Given the description of an element on the screen output the (x, y) to click on. 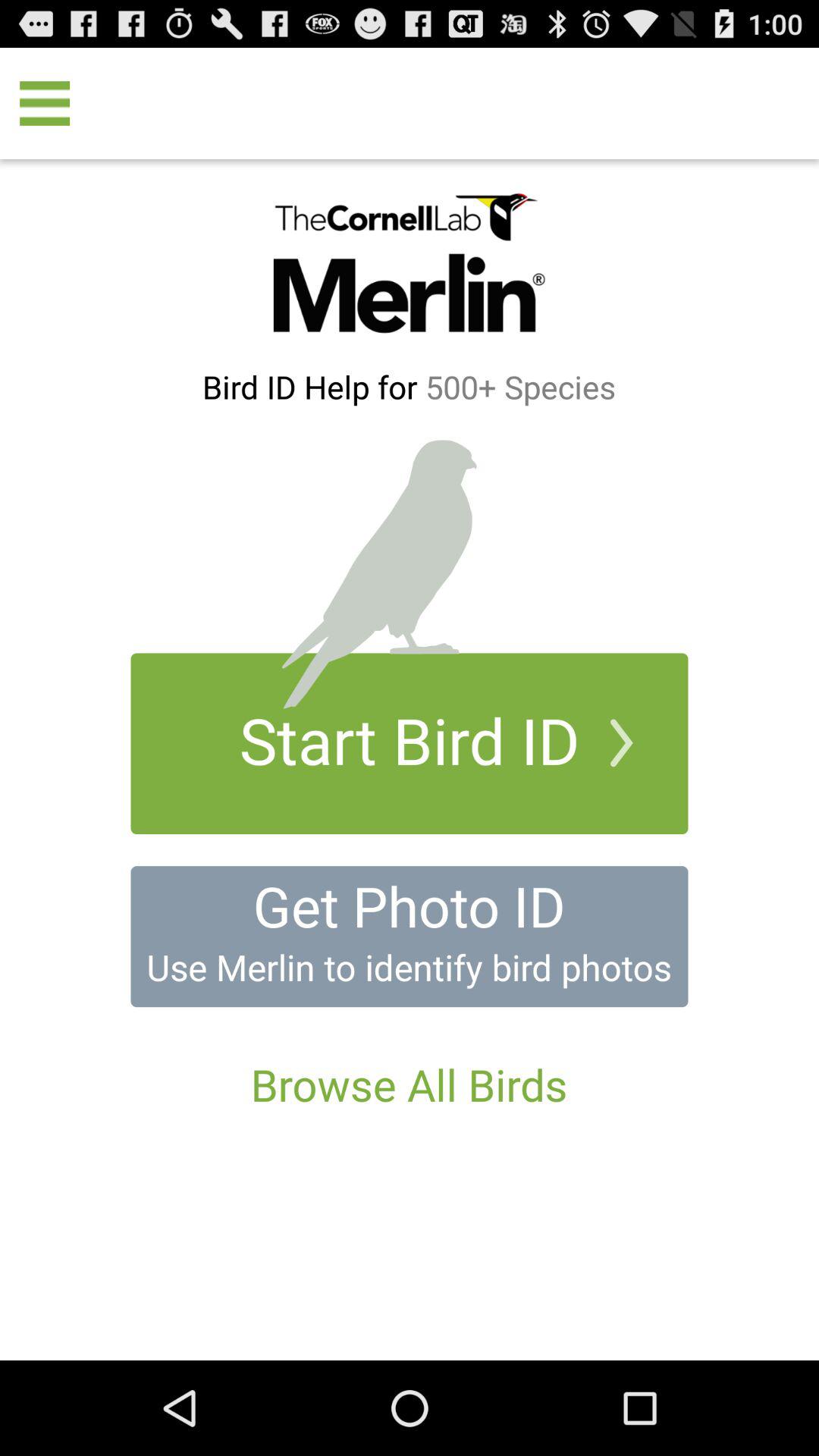
open link (409, 936)
